Given the description of an element on the screen output the (x, y) to click on. 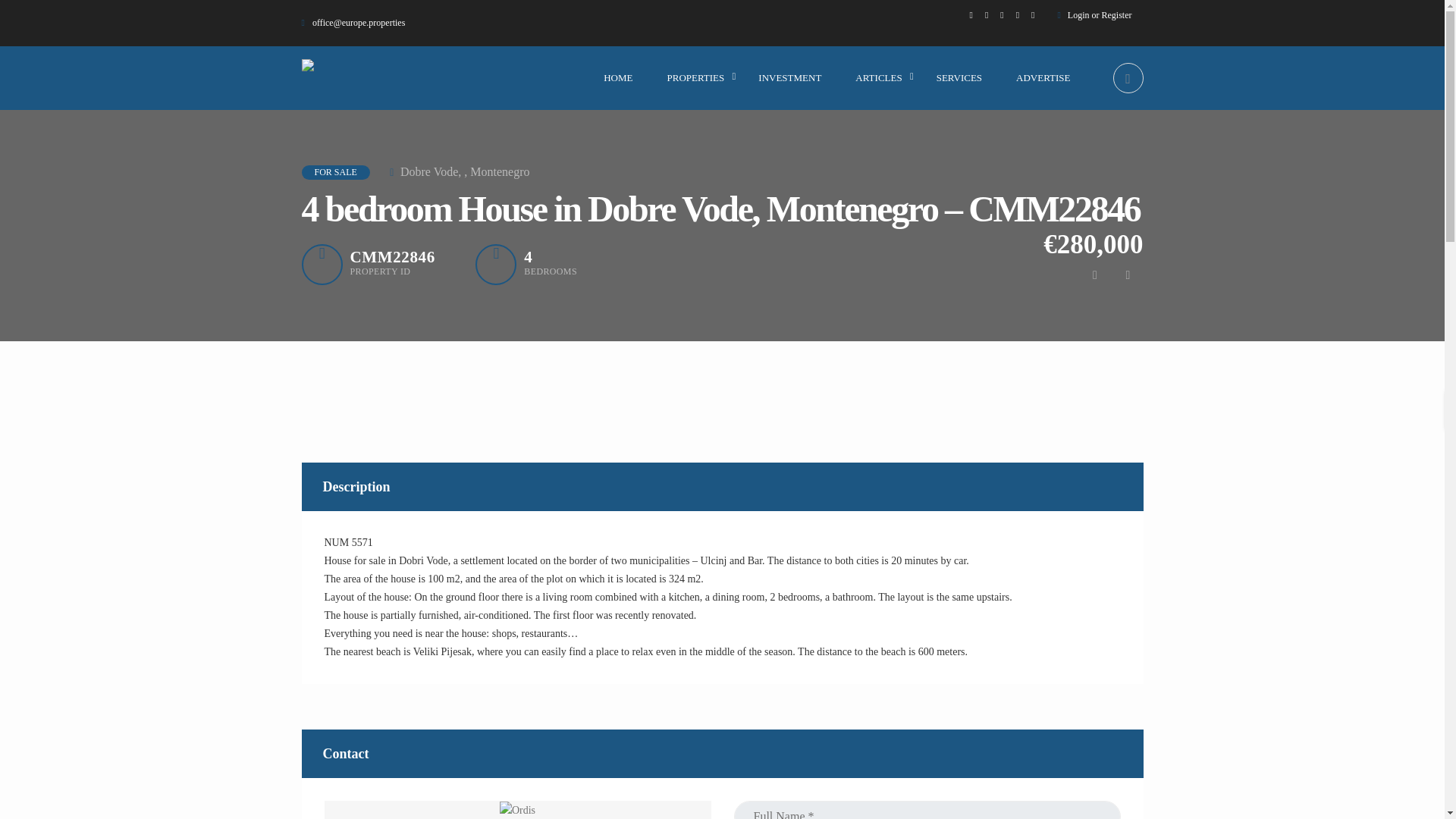
INVESTMENT (789, 77)
Dobre Vode, , Montenegro (450, 171)
SERVICES (958, 77)
HOME (617, 77)
Login or Register (1099, 14)
ARTICLES (878, 77)
PROPERTIES (695, 77)
ADVERTISE (1043, 77)
